Given the description of an element on the screen output the (x, y) to click on. 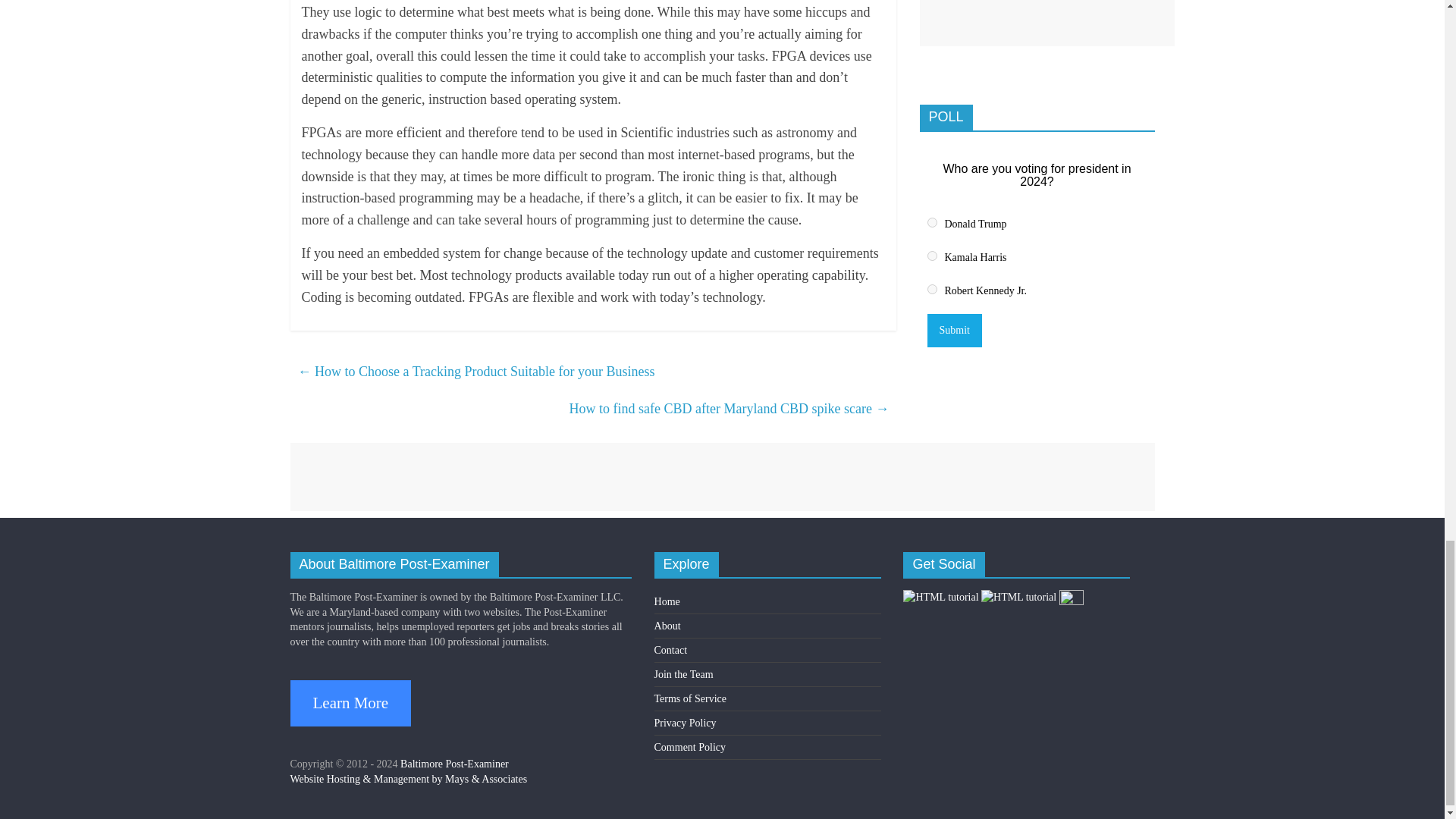
1 (931, 222)
2 (931, 255)
Baltimore Post-Examiner (454, 763)
3 (931, 289)
